Given the description of an element on the screen output the (x, y) to click on. 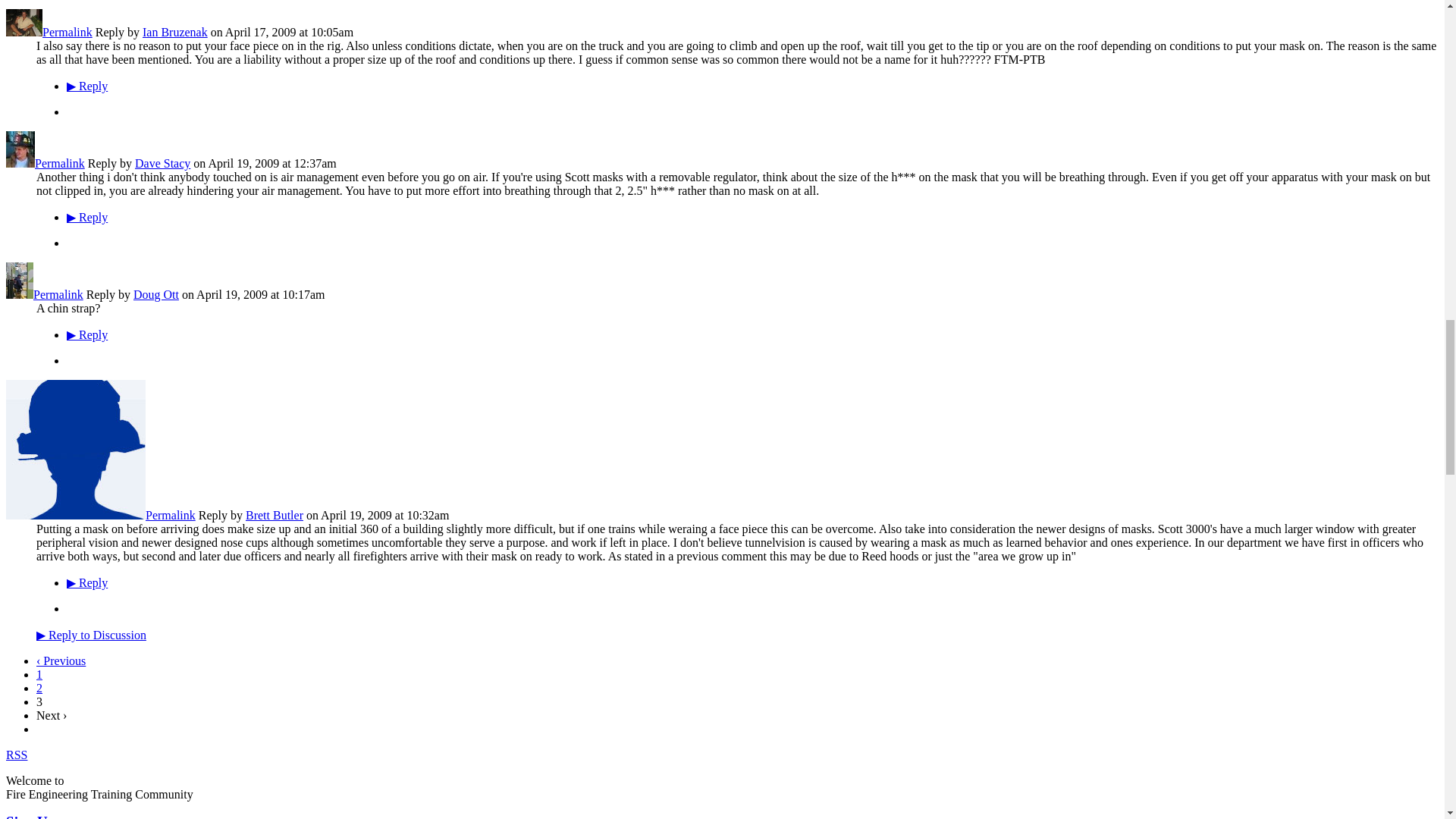
Permalink to this Reply (59, 163)
Permalink to this Reply (57, 294)
Dave Stacy (19, 163)
Ian Bruzenak (23, 31)
Doug Ott (19, 294)
Permalink to this Reply (67, 31)
